Given the description of an element on the screen output the (x, y) to click on. 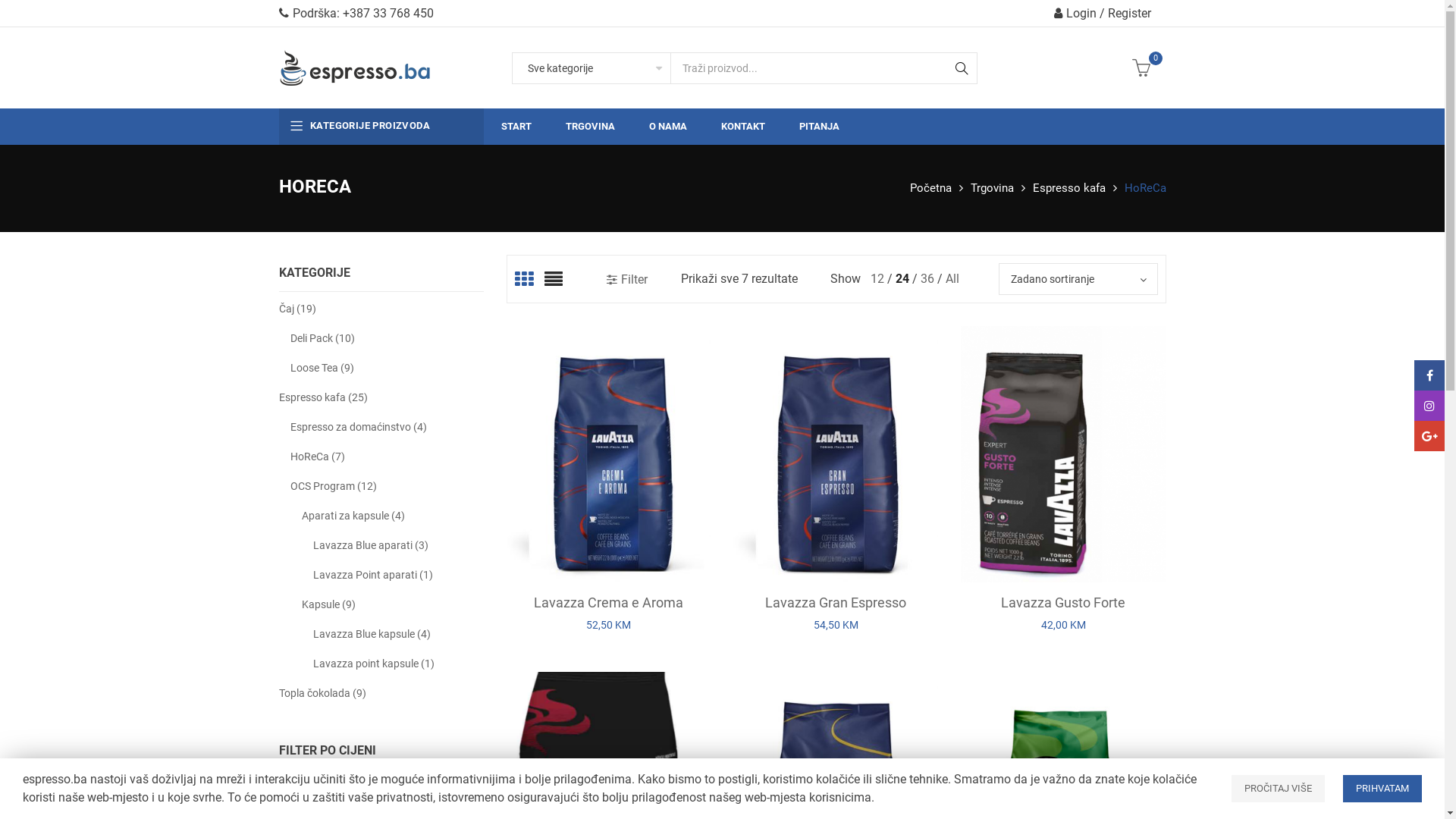
Loose Tea (9) Element type: text (321, 368)
0 Element type: text (1076, 68)
espresso.ba Element type: hover (354, 67)
12 Element type: text (878, 278)
Login / Register Element type: text (1102, 13)
PRIHVATAM Element type: text (1382, 788)
Lavazza Blue kapsule (4) Element type: text (370, 634)
Kapsule (9) Element type: text (328, 604)
Deli Pack (10) Element type: text (321, 338)
PITANJA Element type: text (816, 126)
HoReCa (7) Element type: text (316, 456)
TRGOVINA Element type: text (587, 126)
Lavazza point kapsule (1) Element type: text (372, 663)
Filter Element type: text (626, 278)
Lavazza Gusto Forte Element type: text (1063, 602)
Espresso kafa (25) Element type: text (323, 397)
Espresso kafa Element type: text (1068, 187)
Instagram Element type: text (1429, 405)
Lavazza Point aparati (1) Element type: text (372, 575)
Lavazza Gran Espresso Element type: text (835, 602)
All Element type: text (952, 278)
Lavazza Blue aparati (3) Element type: text (369, 545)
36 Element type: text (928, 278)
24 Element type: text (903, 278)
START Element type: text (514, 126)
Lavazza Crema e Aroma Element type: text (608, 602)
Aparati za kapsule (4) Element type: text (352, 516)
Facebook Element type: text (1429, 375)
KONTAKT Element type: text (740, 126)
O NAMA Element type: text (664, 126)
OCS Program (12) Element type: text (332, 486)
Trgovina Element type: text (991, 187)
Google Plus Element type: text (1429, 435)
